Given the description of an element on the screen output the (x, y) to click on. 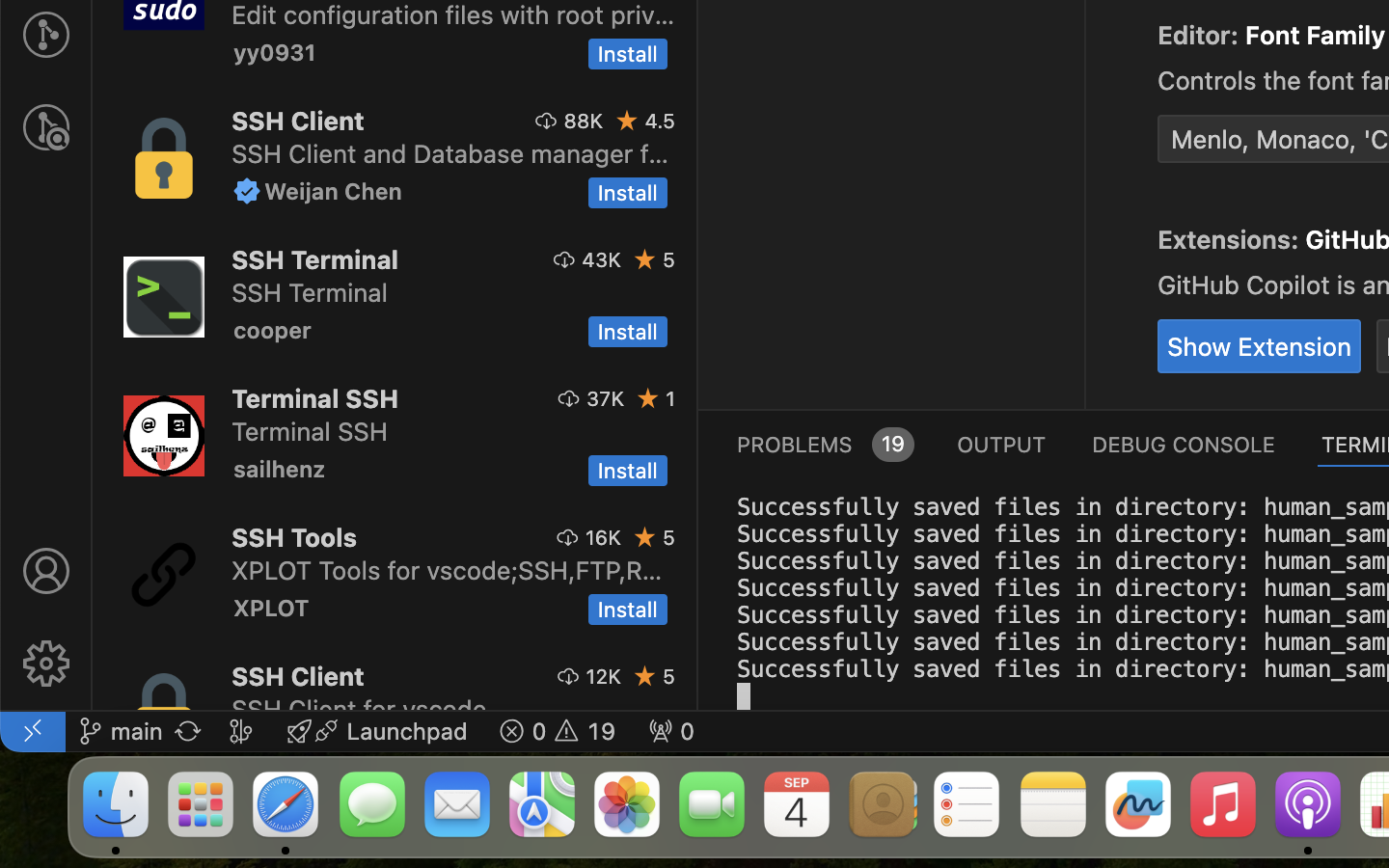
XPLOT Tools for vscode;SSH,FTP,Remote Element type: AXStaticText (447, 569)
19  0  Element type: AXButton (557, 730)
SSH Terminal Element type: AXStaticText (315, 258)
Launchpad   Element type: AXButton (376, 730)
Edit configuration files with root privileges while using the Remote - SSH extension Element type: AXStaticText (453, 14)
